Given the description of an element on the screen output the (x, y) to click on. 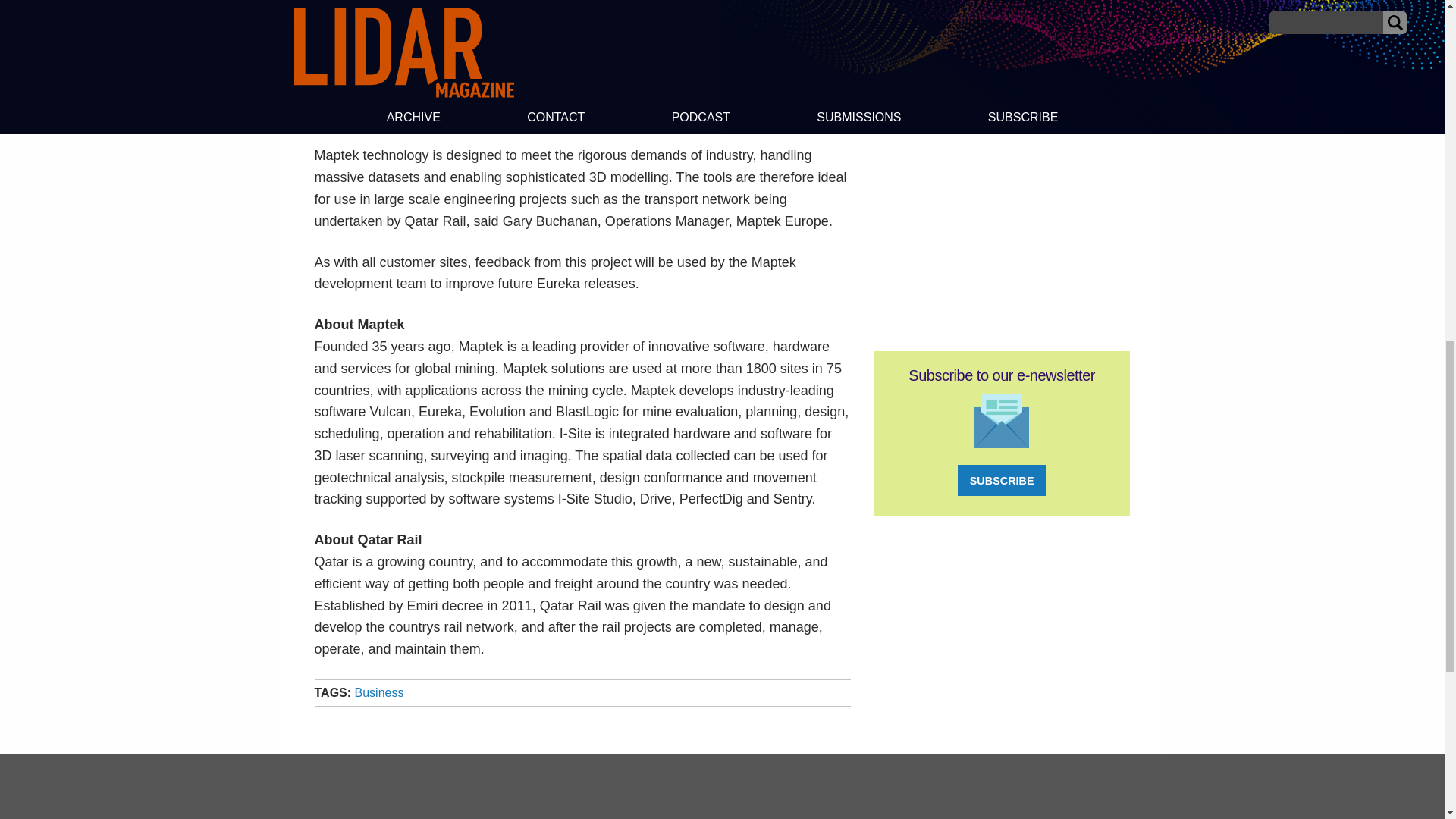
Business (379, 692)
3rd party ad content (721, 791)
SUBSCRIBE (1001, 480)
